Given the description of an element on the screen output the (x, y) to click on. 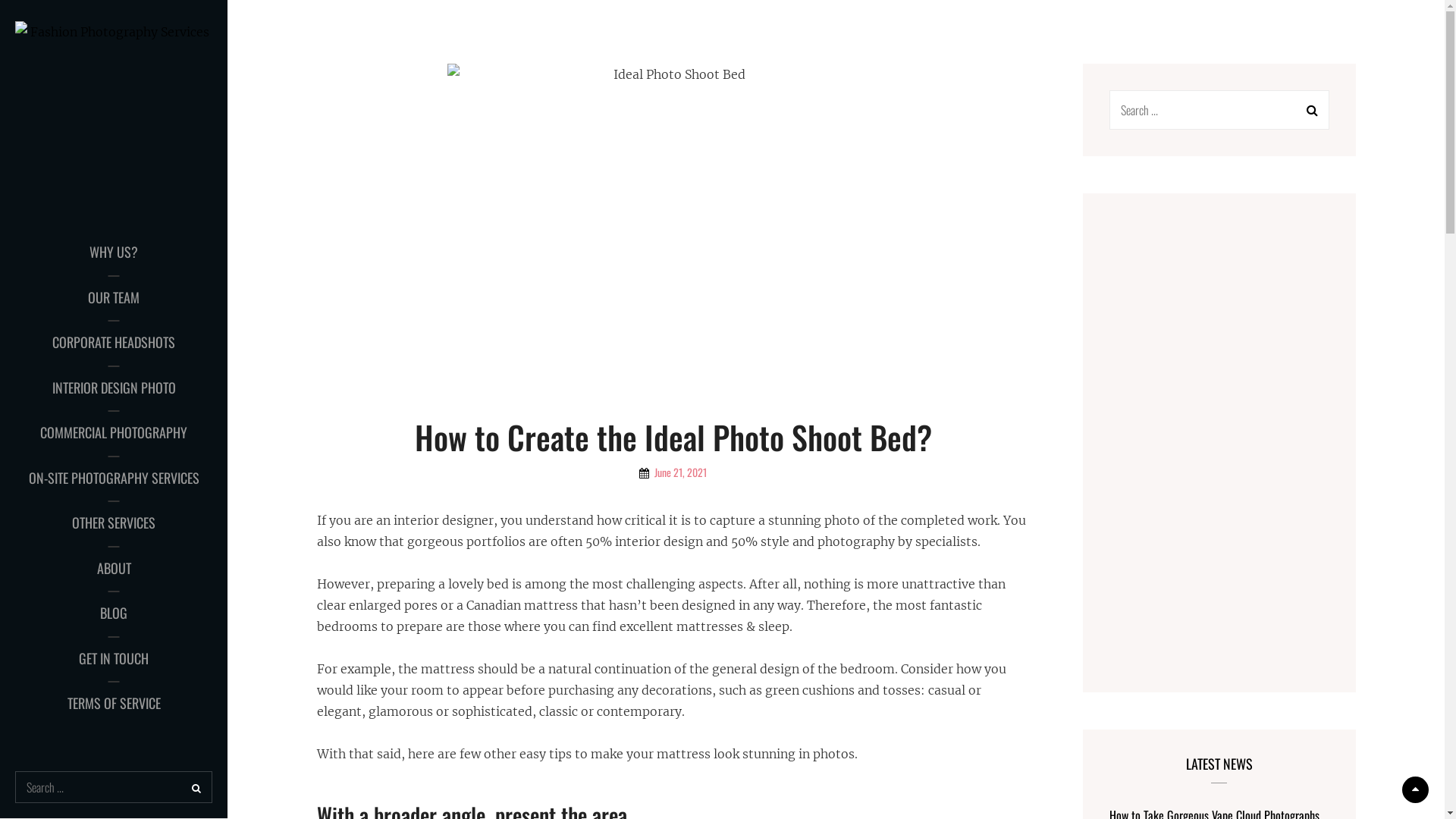
ABOUT Element type: text (113, 568)
GET IN TOUCH Element type: text (113, 658)
ON-SITE PHOTOGRAPHY SERVICES Element type: text (113, 478)
COMMERCIAL PHOTOGRAPHY Element type: text (113, 432)
INTERIOR DESIGN PHOTO Element type: text (113, 388)
BLOG Element type: text (113, 613)
TERMS OF SERVICE Element type: text (113, 703)
OTHER SERVICES Element type: text (113, 523)
CORPORATE HEADSHOTS Element type: text (113, 342)
Scroll Up Element type: text (1415, 789)
WHY US? Element type: text (113, 252)
FASHION PHOTOGRAPHY SERVICES Element type: text (120, 221)
June 21, 2021 Element type: text (672, 472)
OUR TEAM Element type: text (113, 297)
Search for: Element type: hover (1219, 109)
Search for: Element type: hover (113, 787)
